Given the description of an element on the screen output the (x, y) to click on. 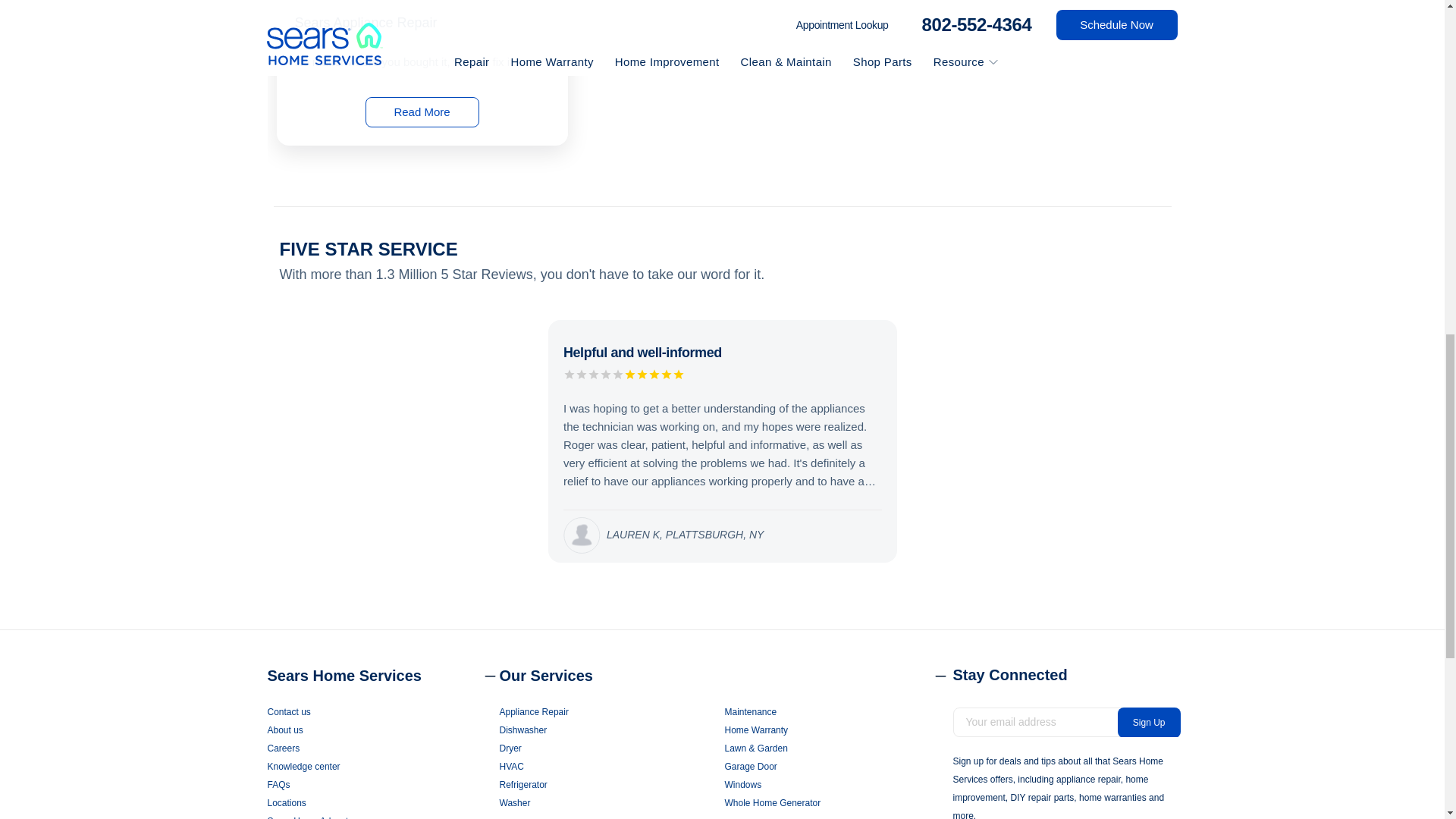
Read More (421, 117)
Sears Appliance Repair (365, 22)
0.25 out of 5 (653, 375)
Contact us (382, 711)
Find a store nearby you (382, 802)
Frequently Asked Questions (382, 784)
About us (382, 730)
Read More (422, 112)
